Given the description of an element on the screen output the (x, y) to click on. 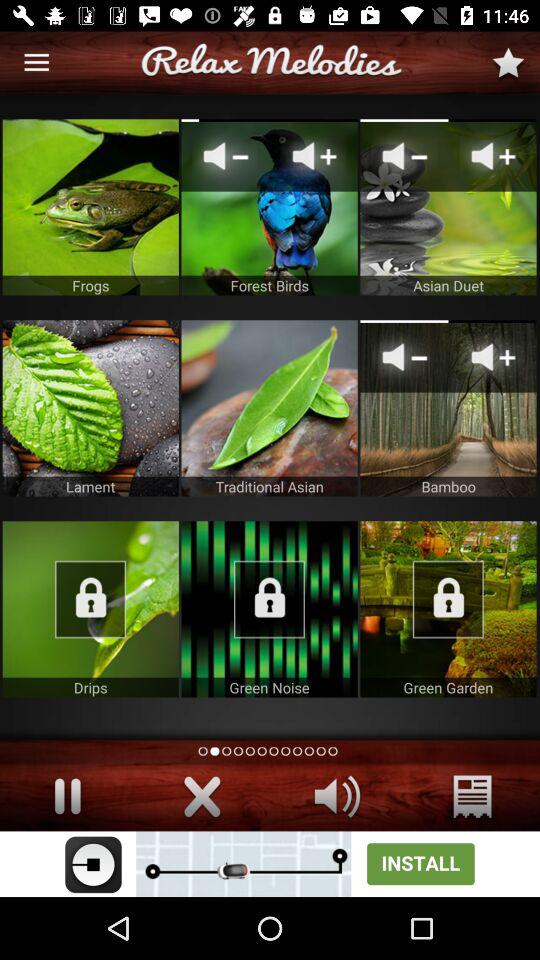
select image (90, 609)
